Given the description of an element on the screen output the (x, y) to click on. 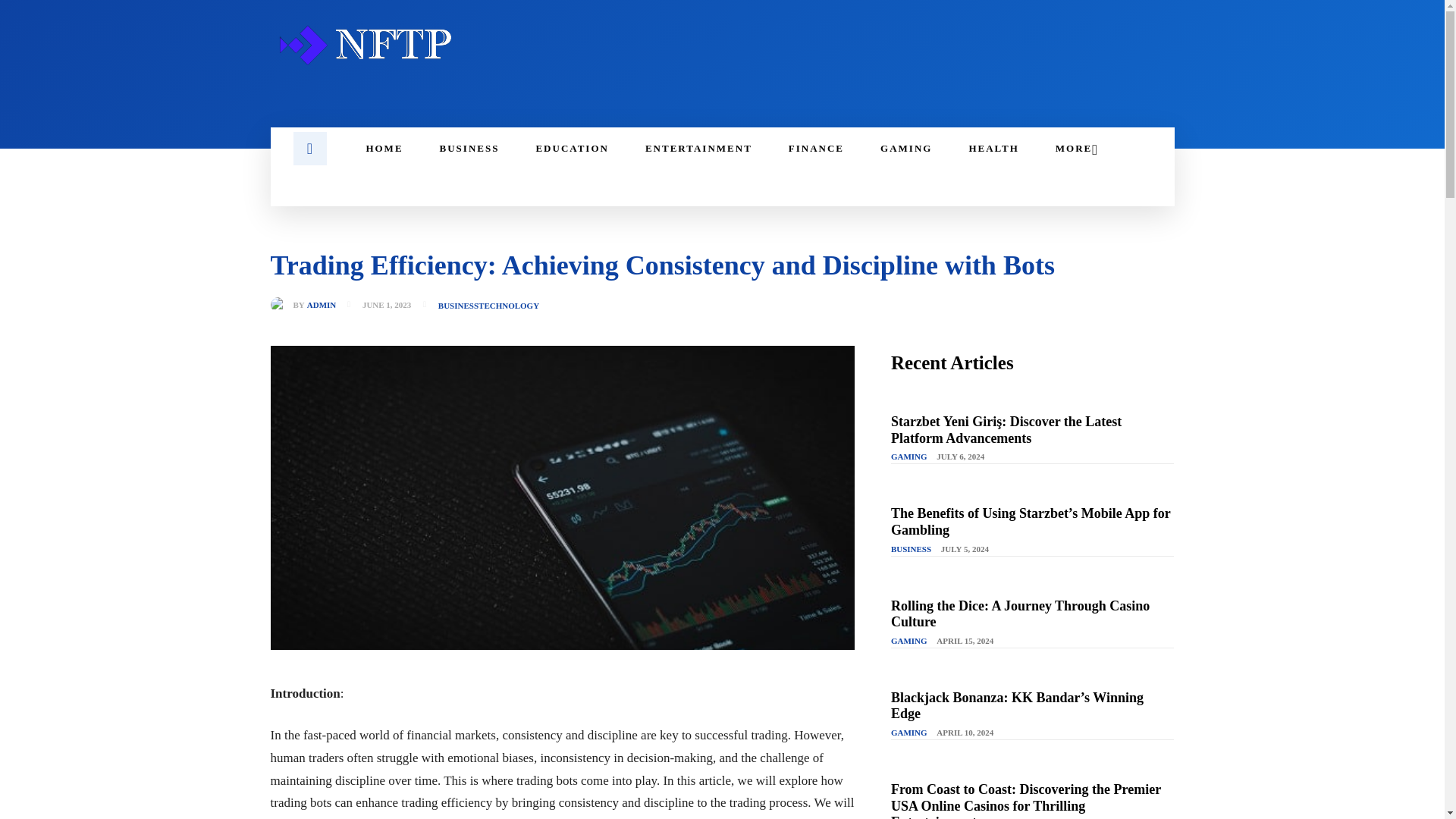
FINANCE (815, 148)
Rolling the Dice: A Journey Through Casino Culture (1020, 613)
BUSINESS (911, 549)
HEALTH (993, 148)
BUSINESS (458, 306)
ENTERTAINMENT (698, 148)
GAMING (905, 148)
HOME (383, 148)
GAMING (909, 733)
EDUCATION (571, 148)
frontrun bot (483, 818)
Rolling the Dice: A Journey Through Casino Culture (1020, 613)
